Given the description of an element on the screen output the (x, y) to click on. 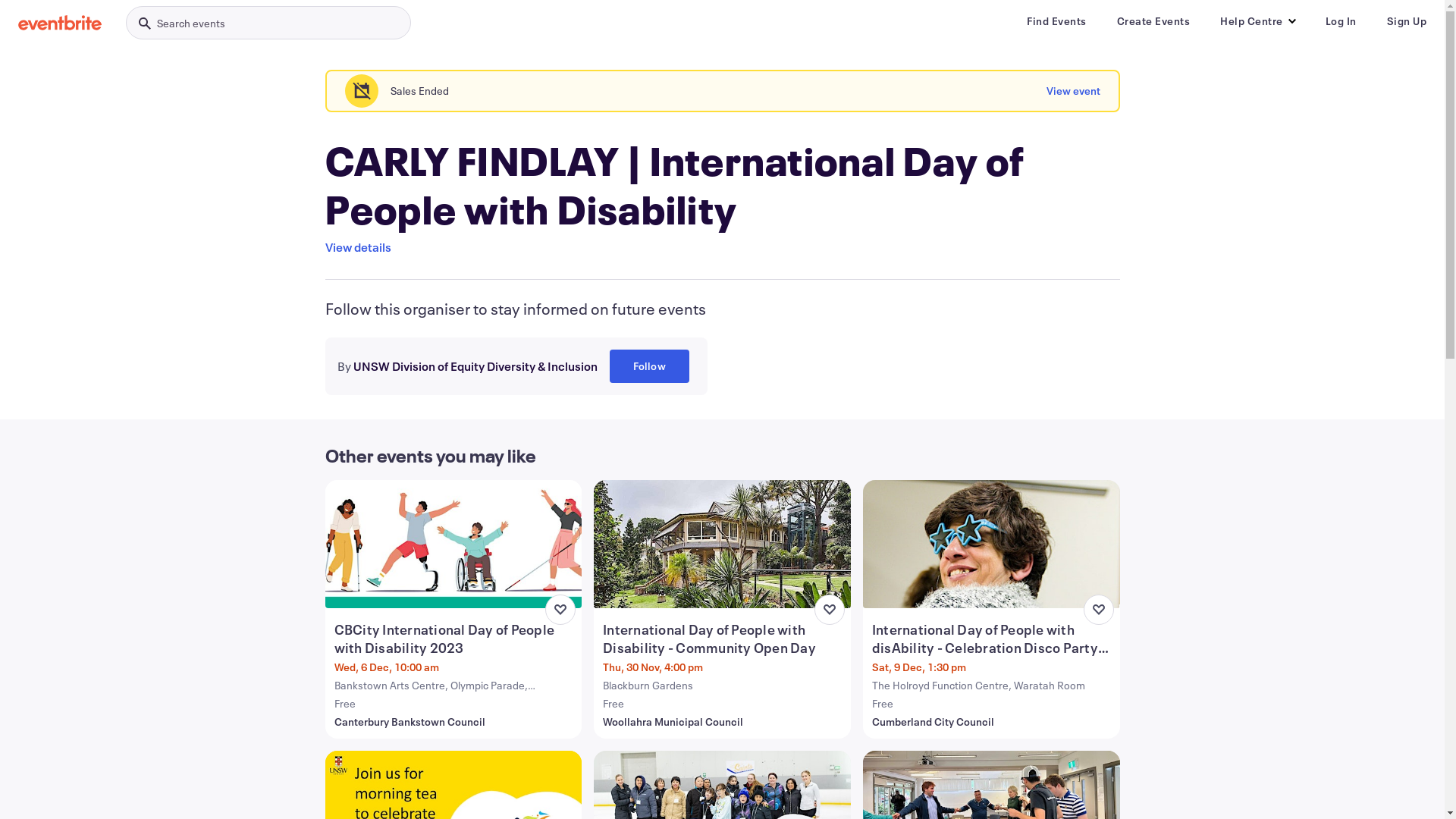
Search events Element type: text (268, 22)
Log In Element type: text (1340, 21)
Eventbrite Element type: hover (59, 22)
Follow Element type: text (649, 365)
Create Events Element type: text (1152, 21)
Sign Up Element type: text (1406, 21)
Find Events Element type: text (1056, 21)
View details Element type: text (357, 246)
View event Element type: text (1073, 90)
CBCity International Day of People with Disability 2023 Element type: text (454, 638)
